Given the description of an element on the screen output the (x, y) to click on. 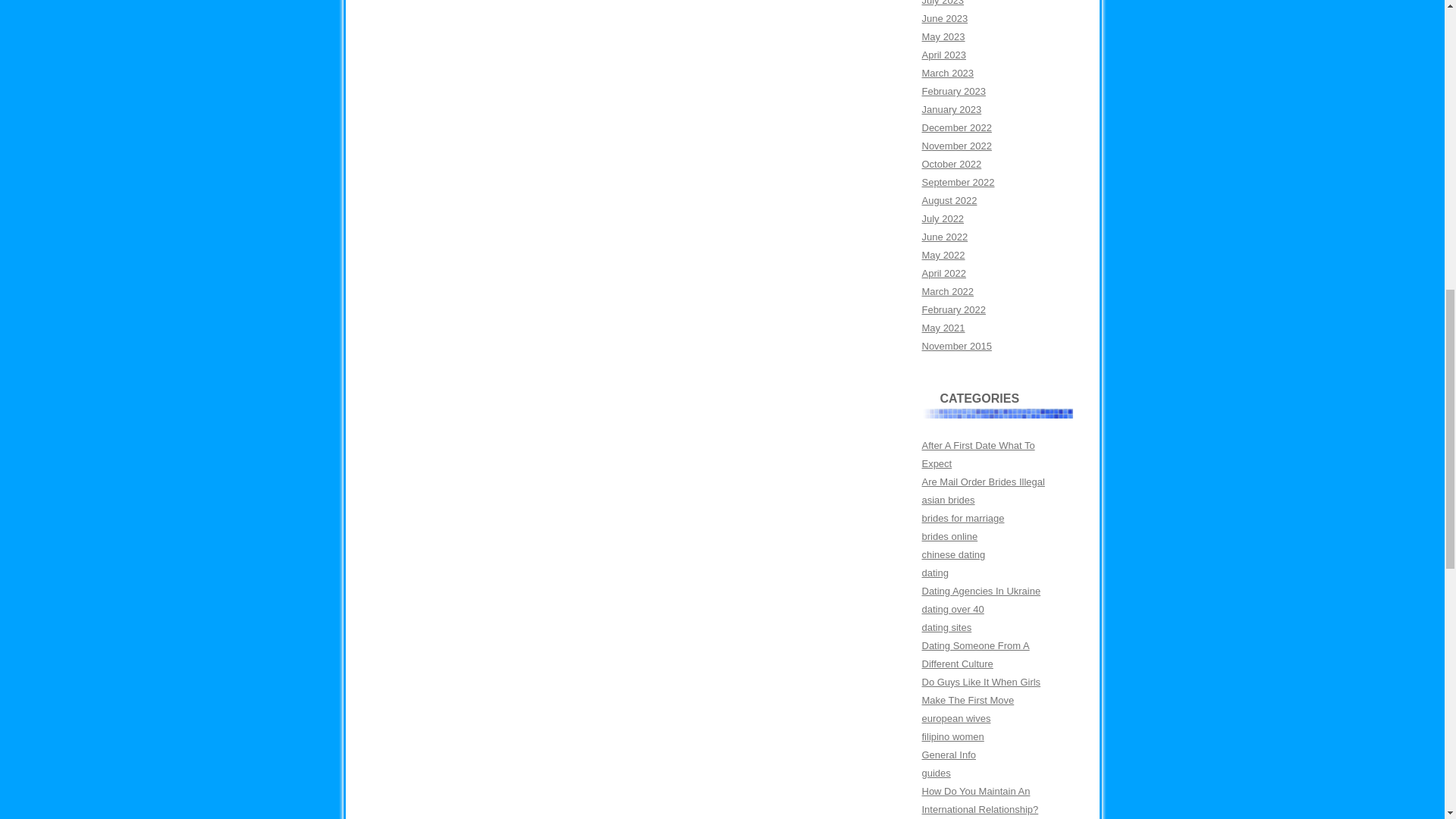
February 2023 (953, 91)
May 2023 (943, 36)
November 2022 (956, 145)
April 2023 (943, 54)
June 2023 (944, 18)
March 2023 (947, 72)
January 2023 (951, 109)
October 2022 (951, 163)
July 2023 (942, 2)
December 2022 (956, 127)
